Given the description of an element on the screen output the (x, y) to click on. 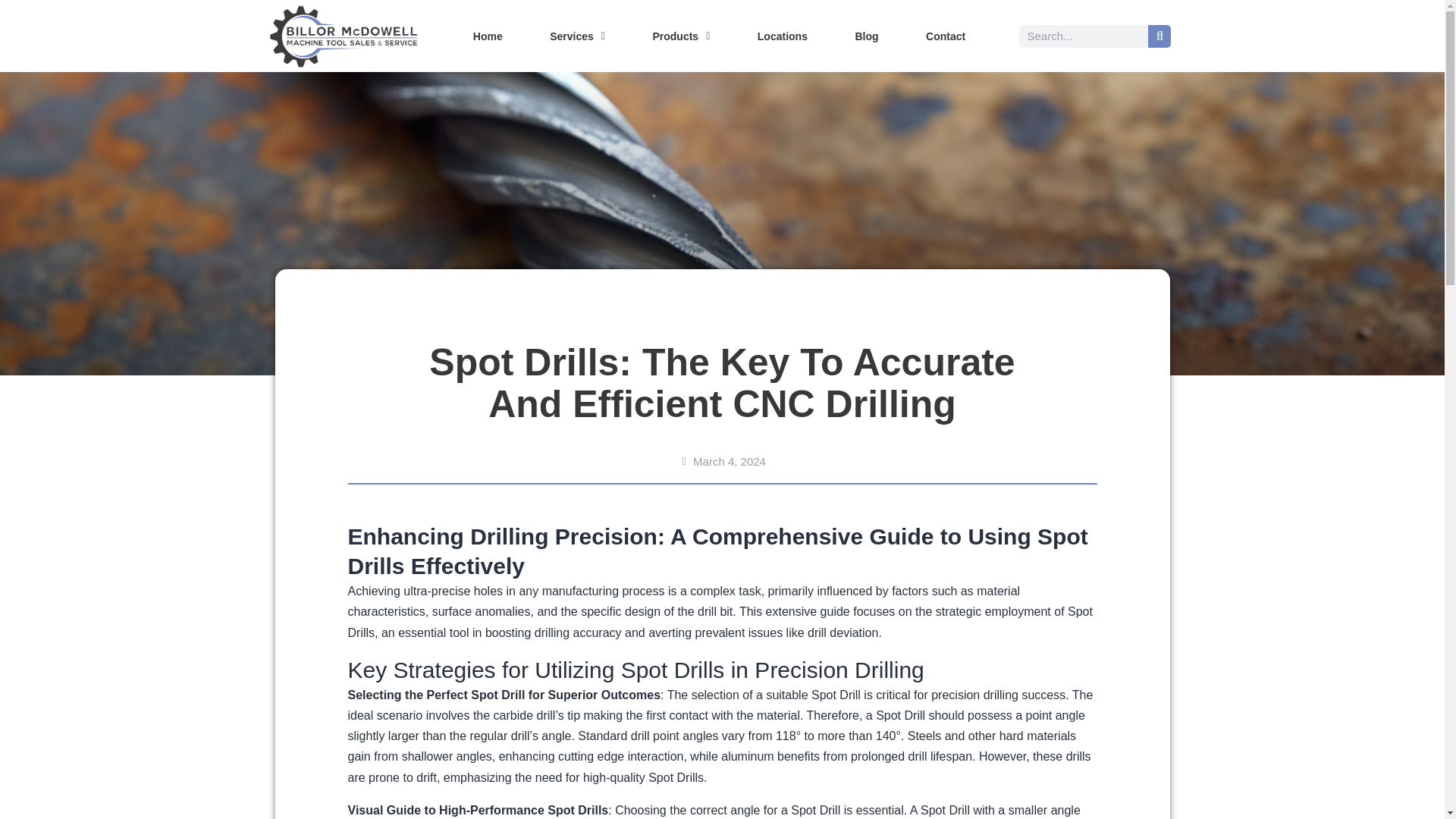
Locations (782, 36)
Home (486, 36)
Products (680, 36)
Contact (946, 36)
Blog (866, 36)
Services (576, 36)
